Given the description of an element on the screen output the (x, y) to click on. 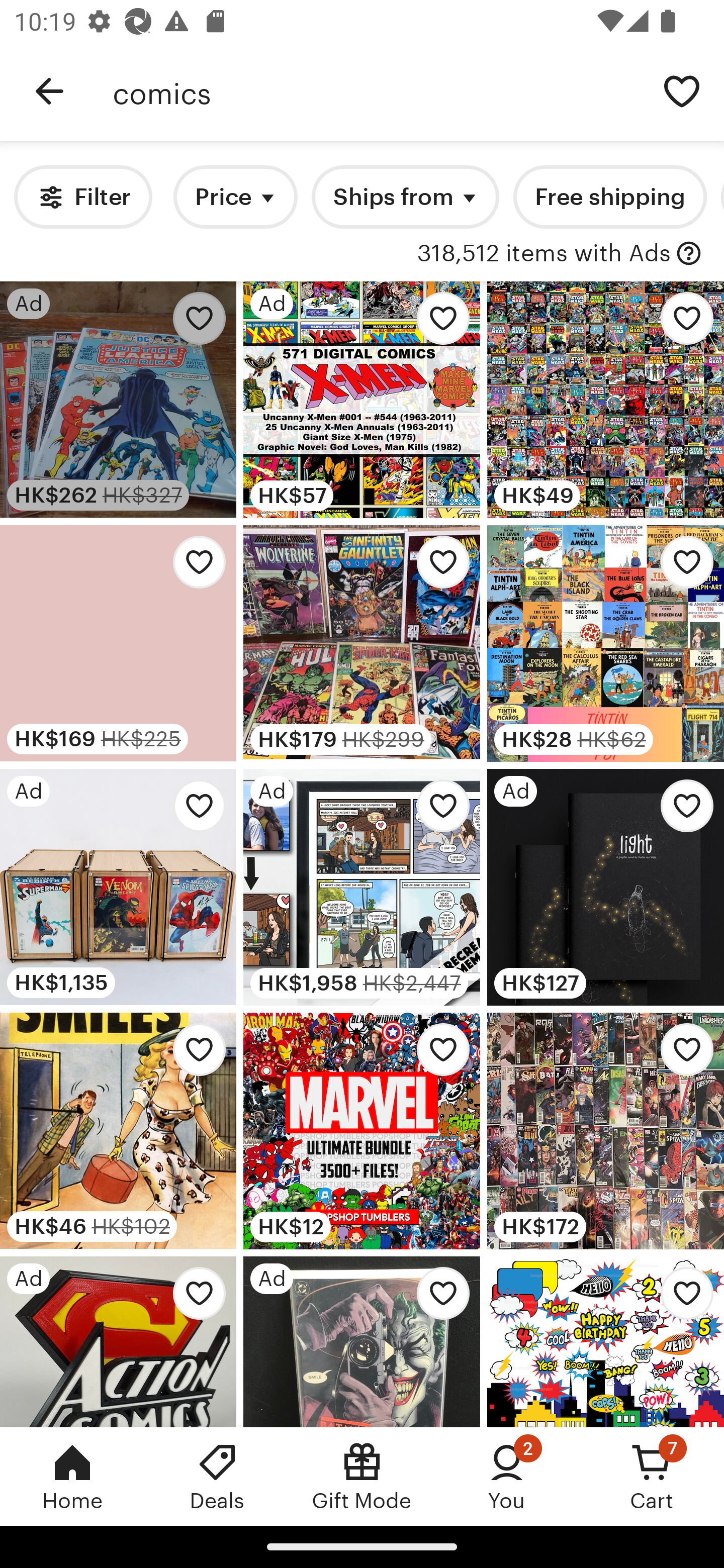
Navigate up (49, 91)
Save search (681, 90)
comics (375, 91)
Filter (82, 197)
Price (235, 197)
Ships from (405, 197)
Free shipping (609, 197)
318,512 items with Ads (544, 253)
with Ads (688, 253)
Add Star Wars Comics Collection to favorites (681, 322)
Add Tin Tin Comics Book to favorites (681, 567)
Deals (216, 1475)
Gift Mode (361, 1475)
You, 2 new notifications You (506, 1475)
Cart, 7 new notifications Cart (651, 1475)
